Given the description of an element on the screen output the (x, y) to click on. 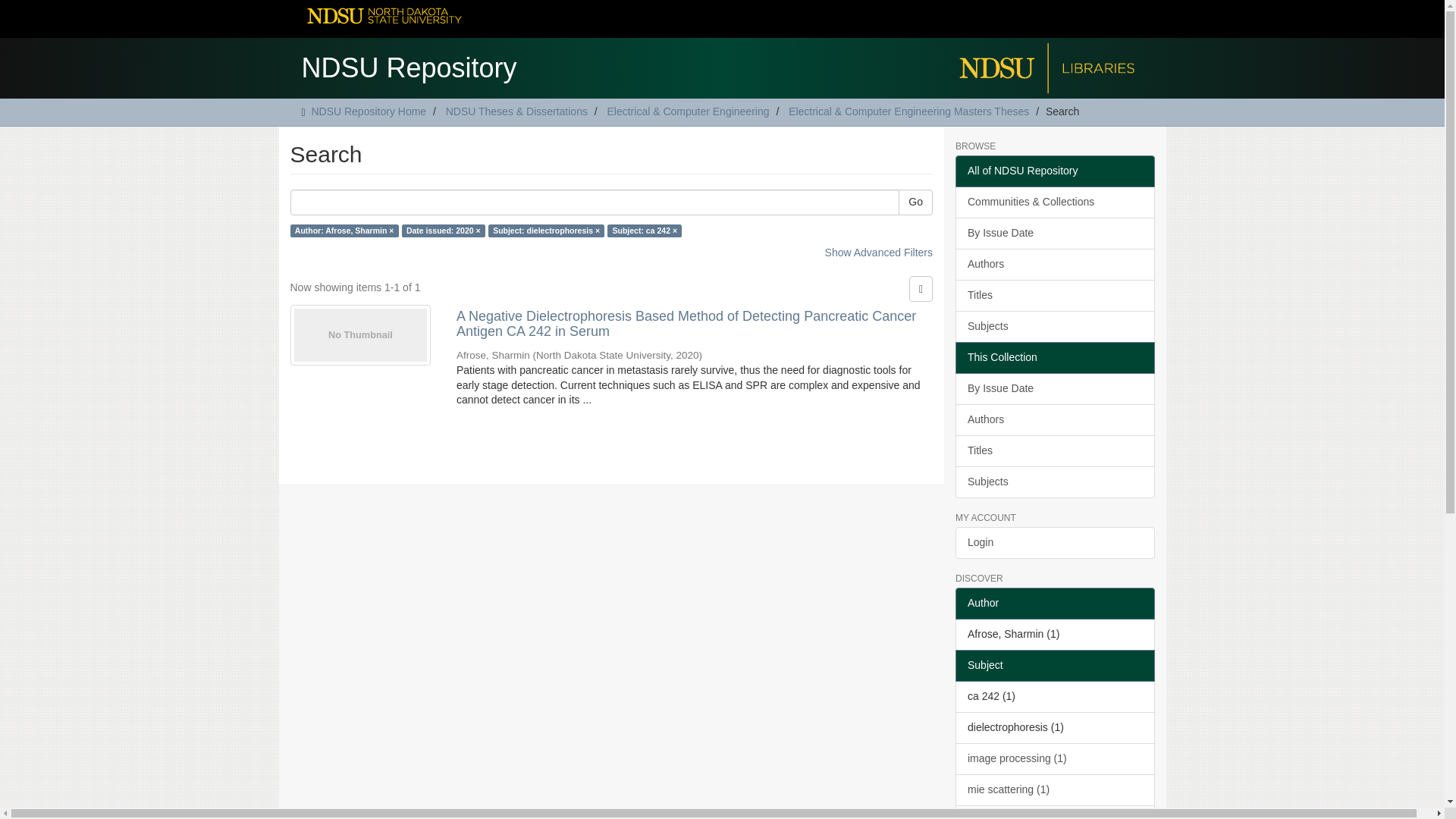
NDSU Repository Home (368, 111)
NDSU Repository (408, 63)
Go (915, 202)
Show Advanced Filters (879, 252)
